Given the description of an element on the screen output the (x, y) to click on. 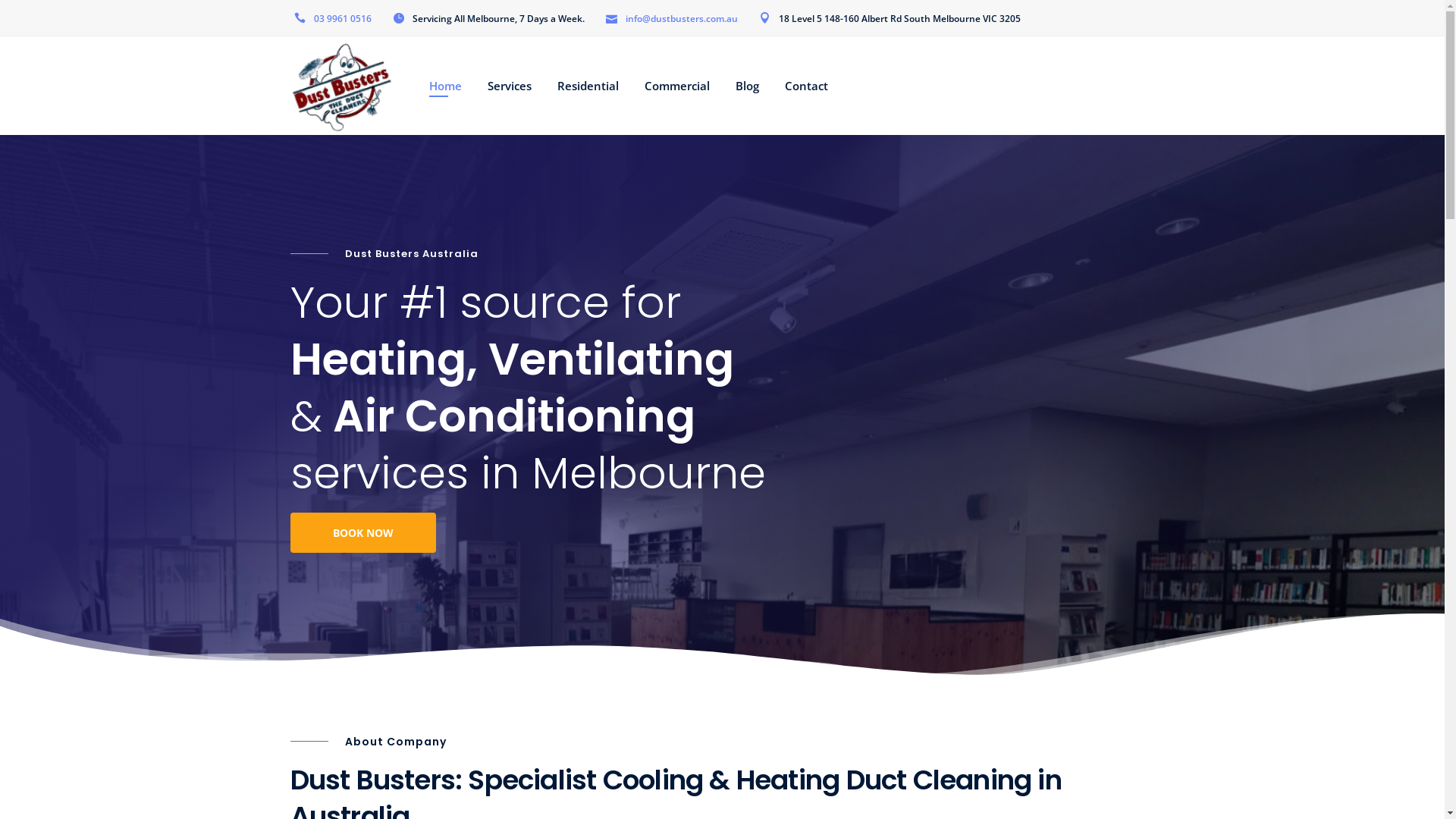
Residential Element type: text (587, 85)
Home Element type: text (445, 85)
BOOK NOW Element type: text (362, 532)
Blog Element type: text (747, 85)
Contact Element type: text (806, 85)
03 9961 0516 Element type: text (342, 18)
Commercial Element type: text (676, 85)
info@dustbusters.com.au Element type: text (680, 18)
Services Element type: text (509, 85)
